Given the description of an element on the screen output the (x, y) to click on. 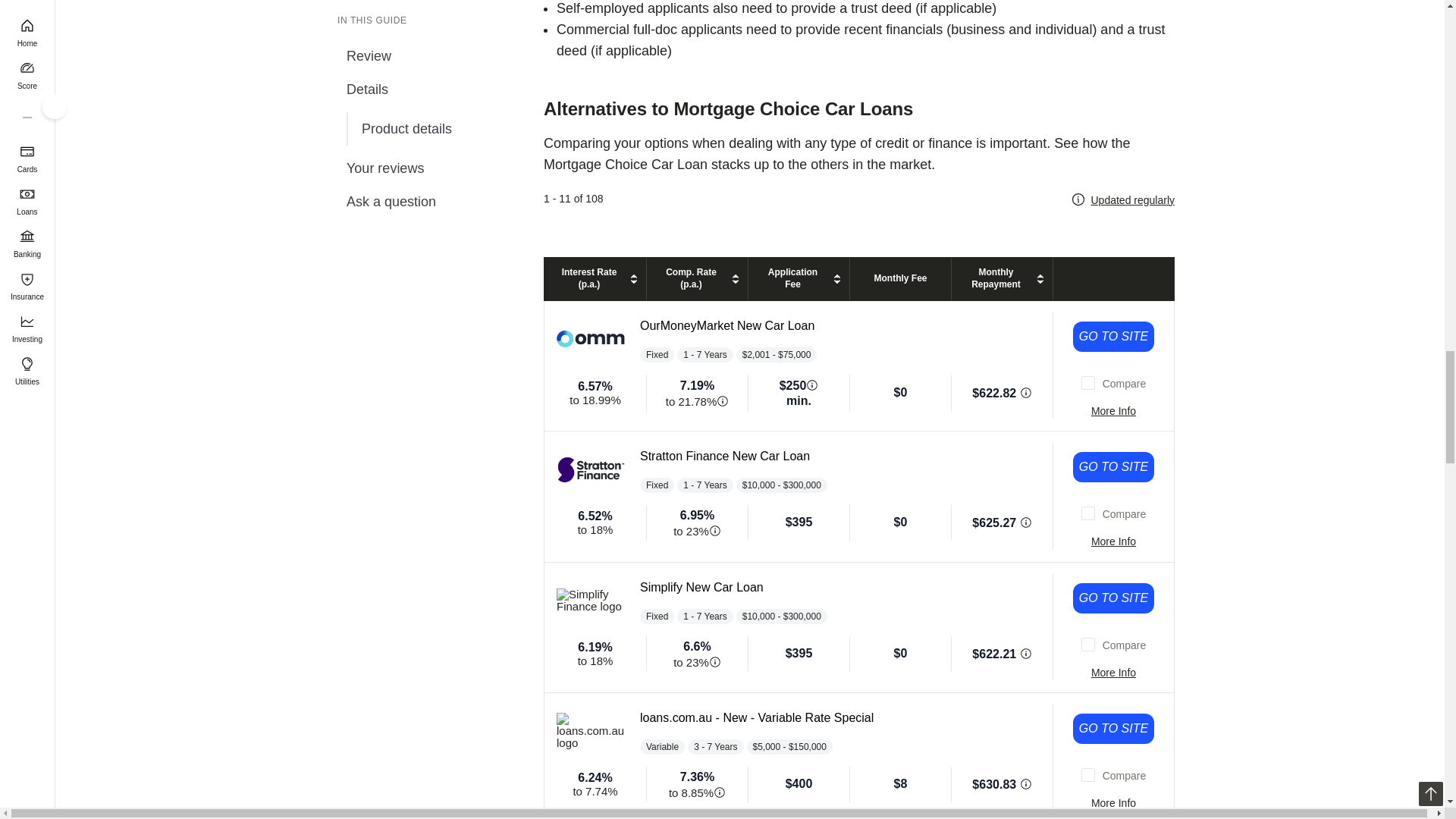
Apply Now For The Simplify New Car Loan (1113, 598)
Read More About The OurMoneyMarket New Car Loan (1112, 410)
Apply Now For The loans.com.au - New - Variable Rate Special (1113, 728)
Apply Now For The Stratton Finance New Car Loan (1113, 467)
Apply Now For The OurMoneyMarket New Car Loan (1113, 336)
Read More About The Stratton Finance New Car Loan (1112, 540)
Read More About The Simplify New Car Loan (1112, 672)
